Given the description of an element on the screen output the (x, y) to click on. 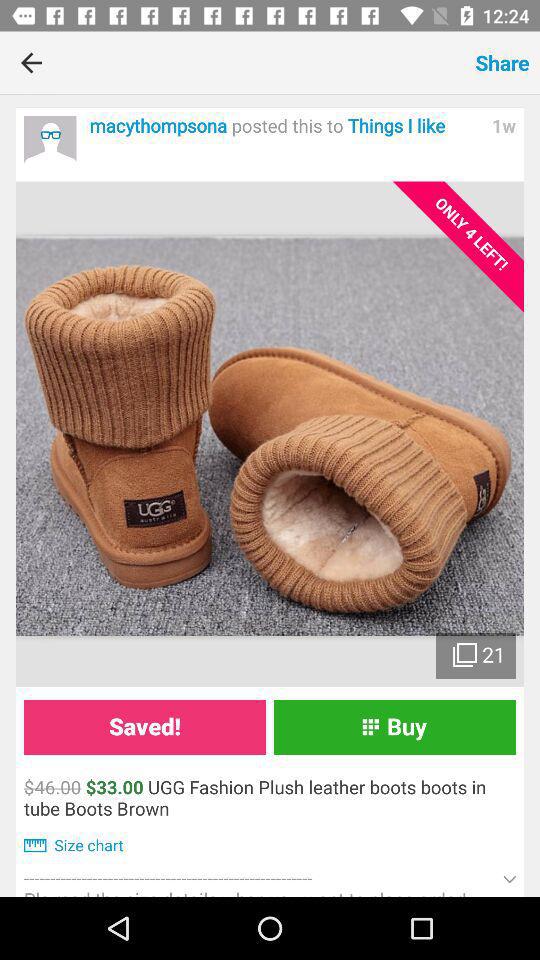
scroll until macythompsona posted this (285, 126)
